Given the description of an element on the screen output the (x, y) to click on. 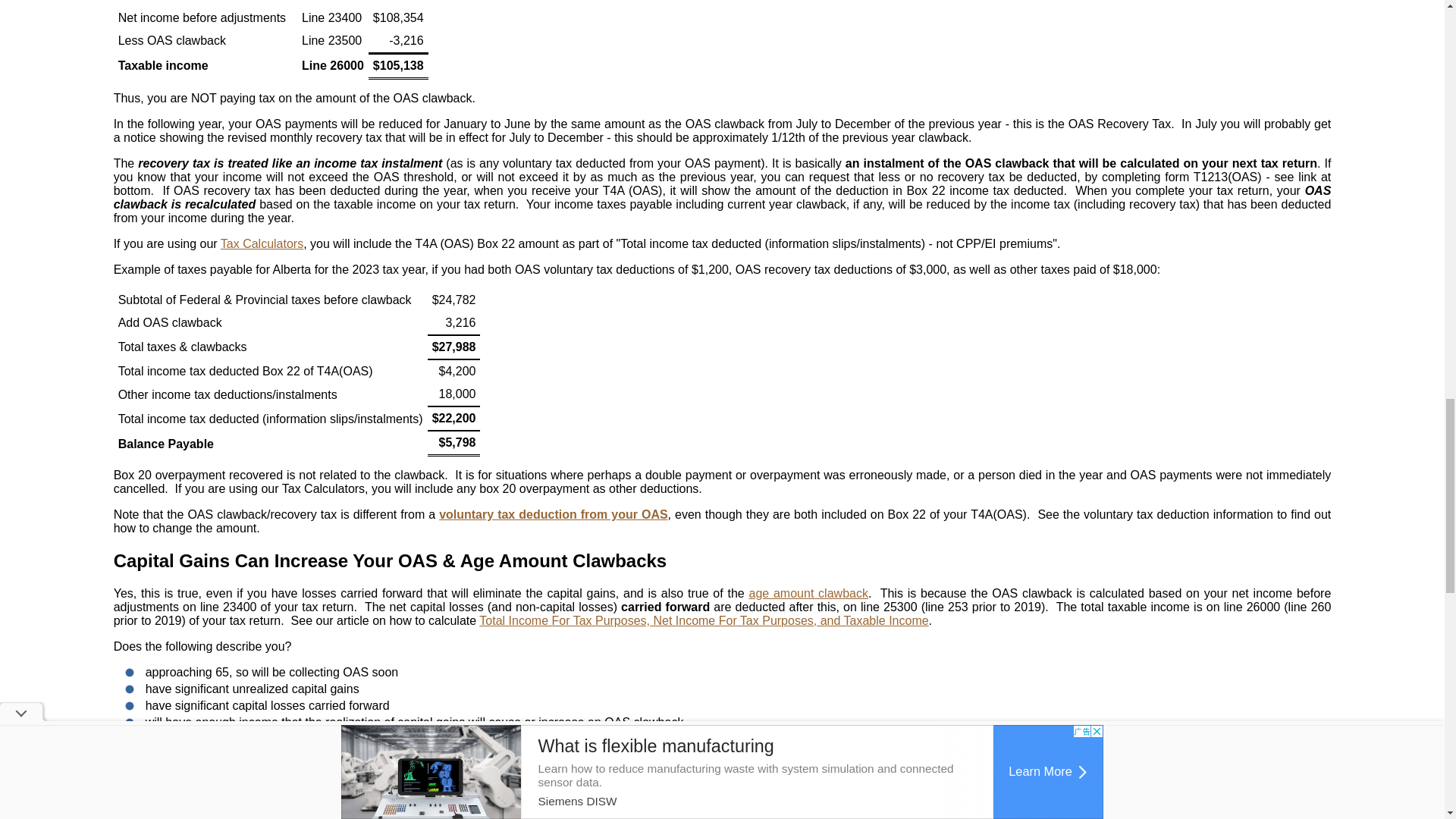
Tax Calculators (261, 243)
carried back losses (1109, 750)
voluntary tax deduction from your OAS (552, 513)
age amount clawback (807, 593)
